Given the description of an element on the screen output the (x, y) to click on. 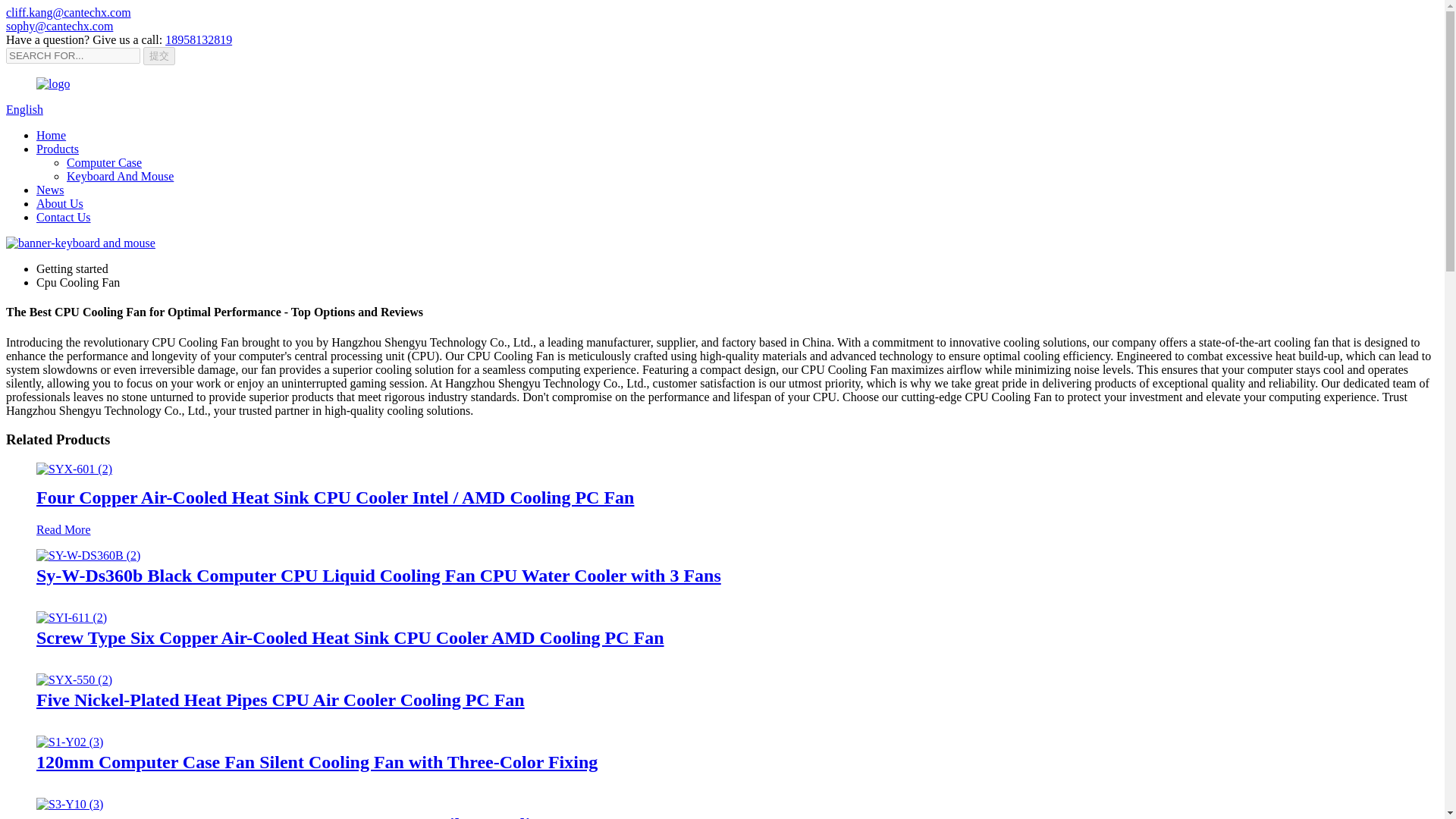
Computer Case (103, 162)
About Us (59, 203)
Contact Us (63, 216)
Five Nickel-Plated Heat Pipes CPU Air Cooler Cooling PC Fan (74, 679)
Products (57, 148)
News (50, 189)
